Given the description of an element on the screen output the (x, y) to click on. 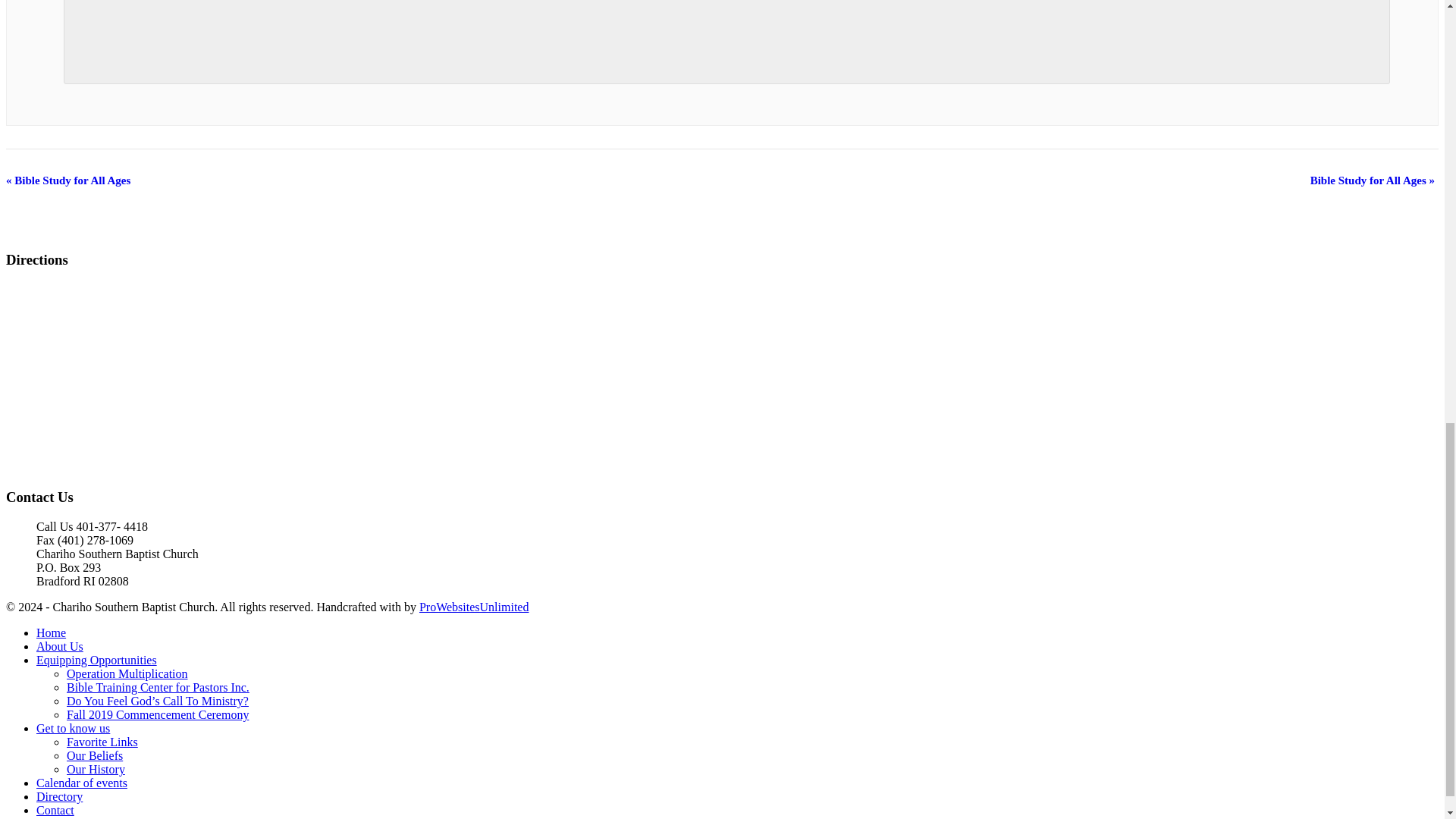
Operation Multiplication (126, 673)
Equipping Opportunities (96, 659)
Home (50, 632)
Bible Training Center for Pastors Inc. (157, 686)
About Us (59, 645)
ProWebsitesUnlimited (473, 606)
